Given the description of an element on the screen output the (x, y) to click on. 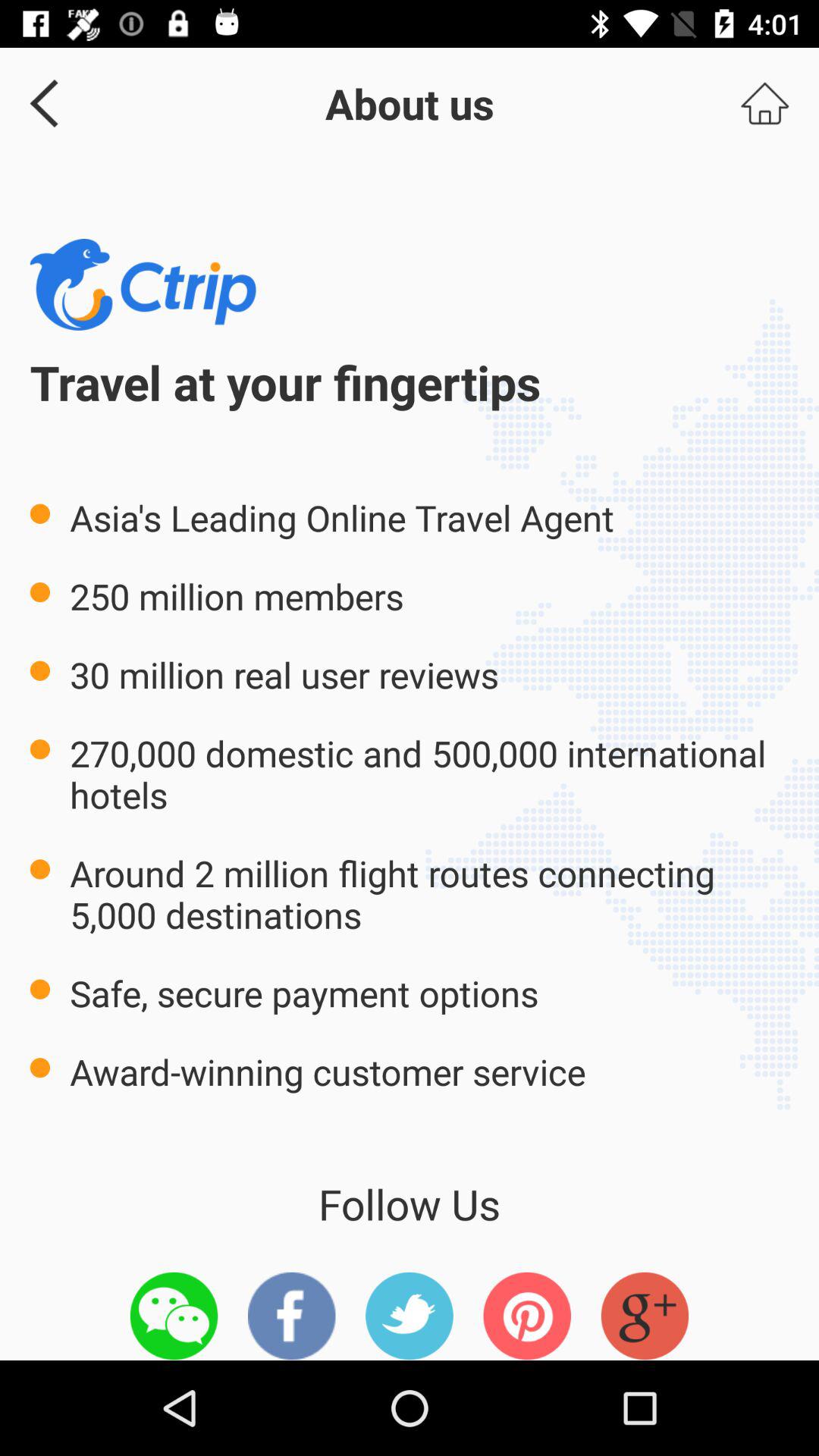
go to facebook (291, 1315)
